Given the description of an element on the screen output the (x, y) to click on. 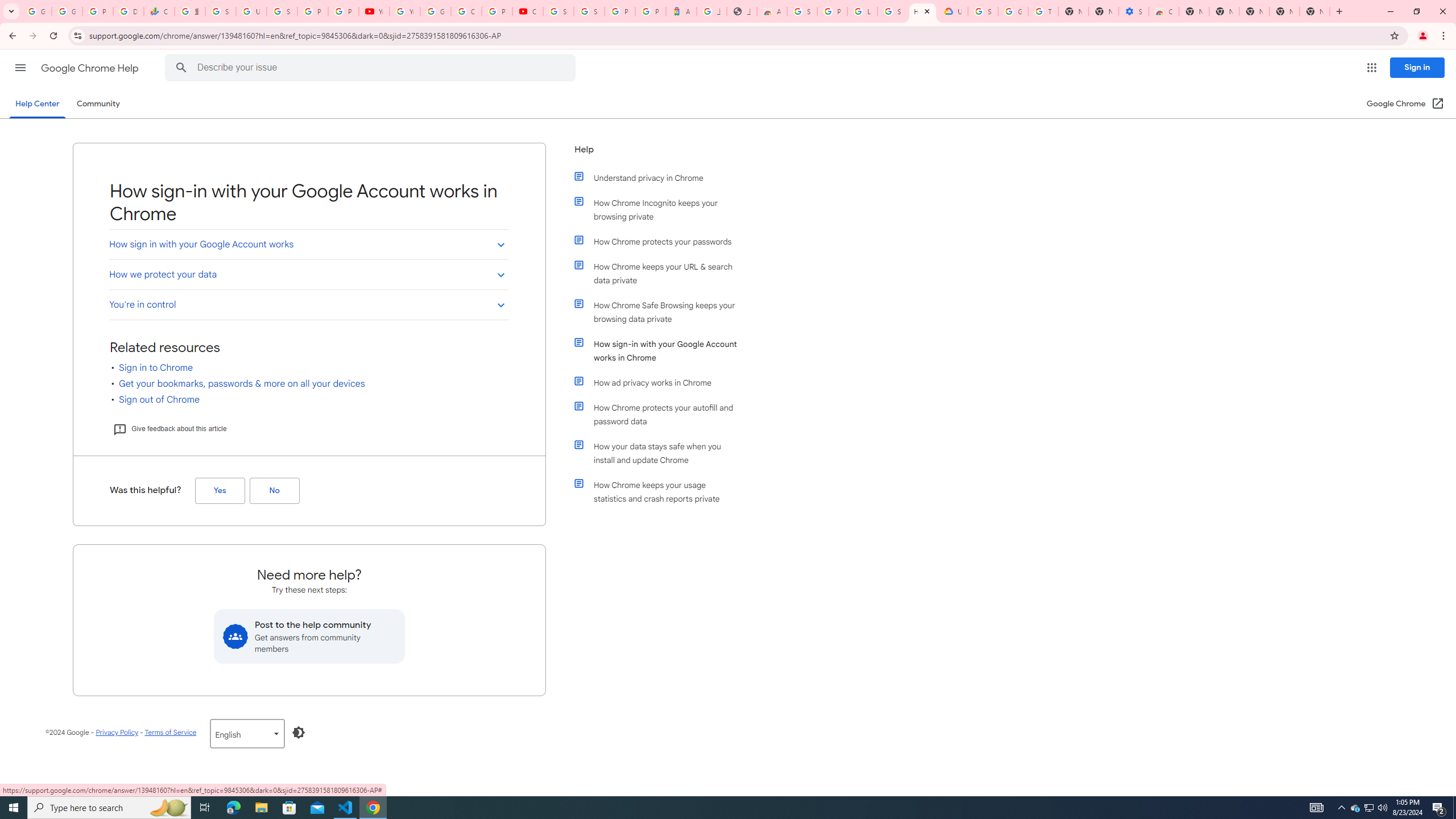
Google Chrome Help (90, 68)
How Chrome Incognito keeps your browsing private (661, 209)
How Chrome keeps your URL & search data private (661, 273)
Sign in to Chrome (156, 367)
How your data stays safe when you install and update Chrome (661, 453)
Sign in - Google Accounts (892, 11)
